Given the description of an element on the screen output the (x, y) to click on. 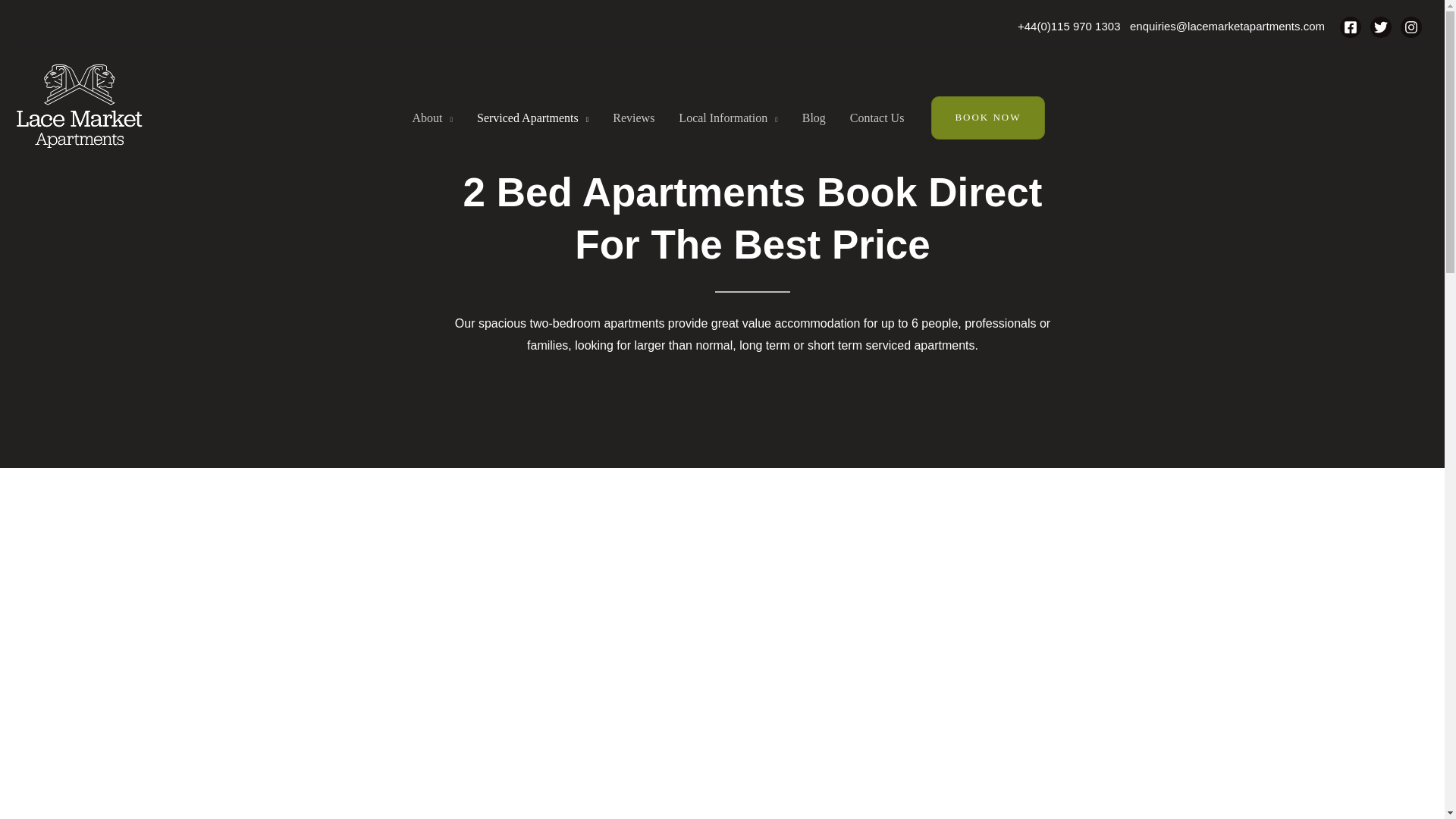
Local Information (727, 118)
Contact Us (877, 118)
About (431, 118)
BOOK NOW (987, 117)
Reviews (632, 118)
Blog (814, 118)
Serviced Apartments (531, 118)
